Given the description of an element on the screen output the (x, y) to click on. 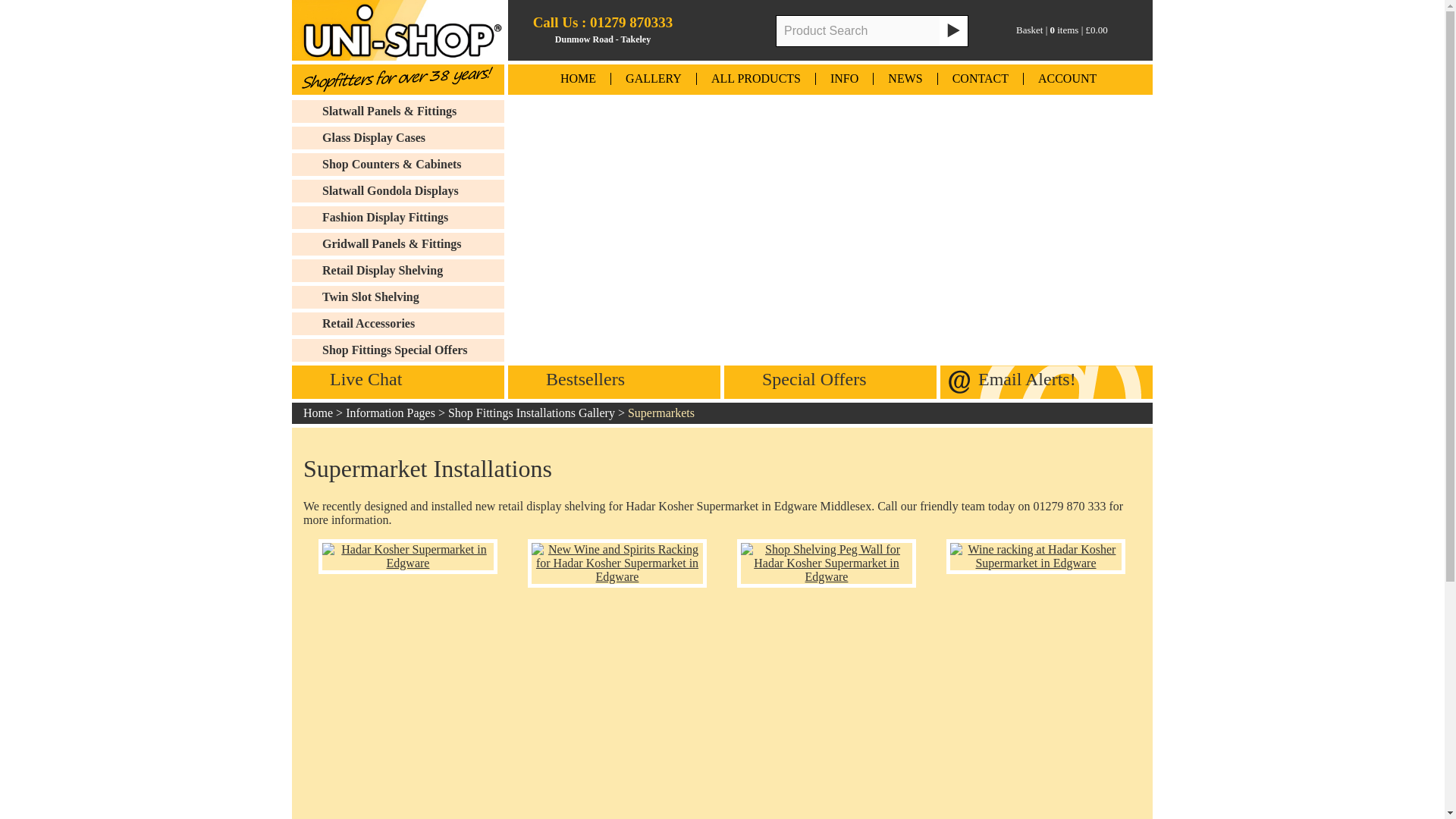
NEWS (905, 78)
Twin Slot Shelving (412, 296)
Retail Display Shelving (412, 270)
Retail Accessories (412, 323)
Glass Display Cases (412, 137)
Home (317, 412)
Information Pages (390, 412)
ALL PRODUCTS (756, 78)
Slatwall Gondola Displays (412, 190)
YouTube (712, 30)
